Given the description of an element on the screen output the (x, y) to click on. 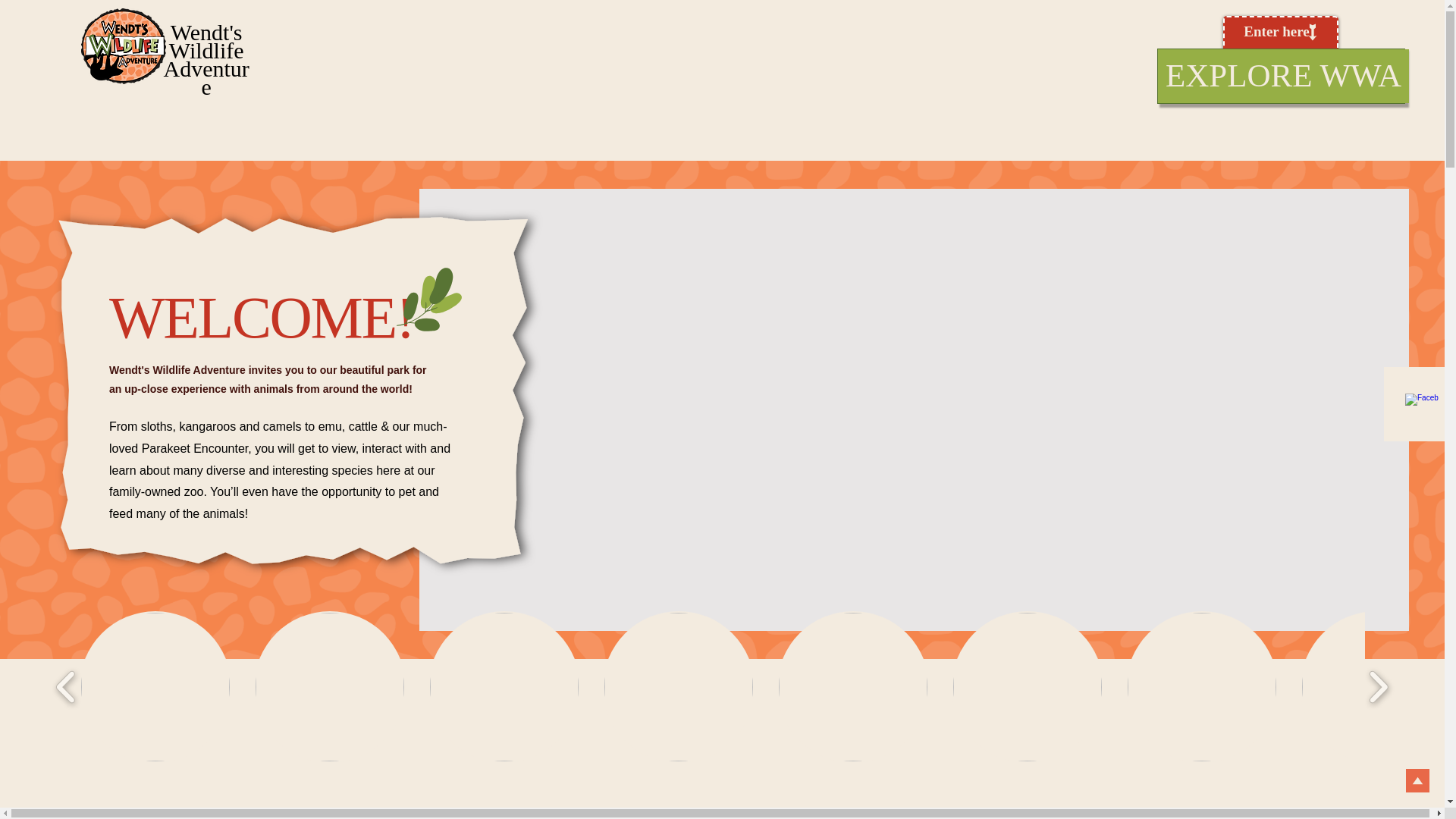
Wendt's Wildlife Adventure (205, 59)
